Given the description of an element on the screen output the (x, y) to click on. 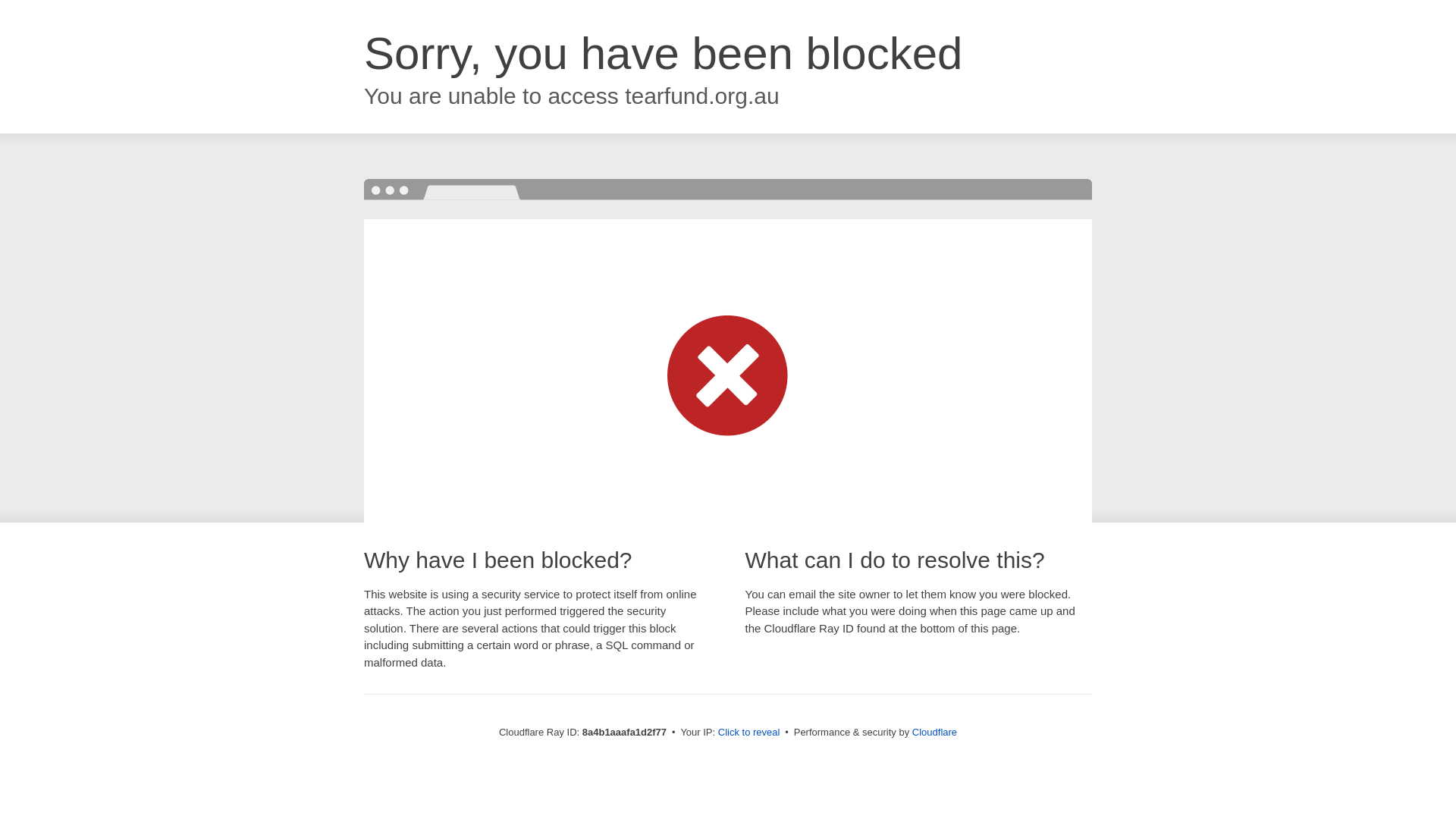
Cloudflare (934, 731)
Click to reveal (748, 732)
